Given the description of an element on the screen output the (x, y) to click on. 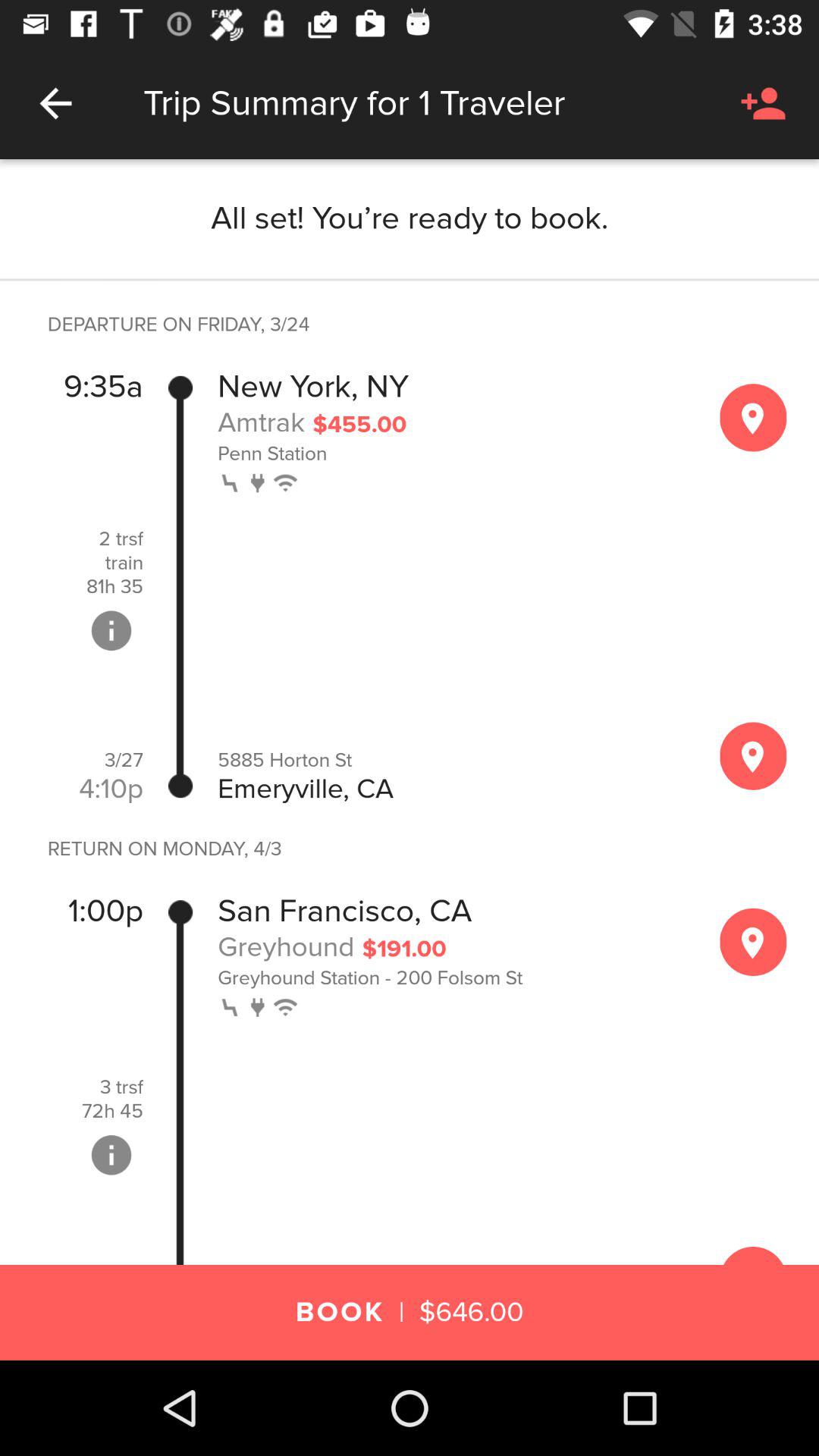
view location (753, 755)
